Given the description of an element on the screen output the (x, y) to click on. 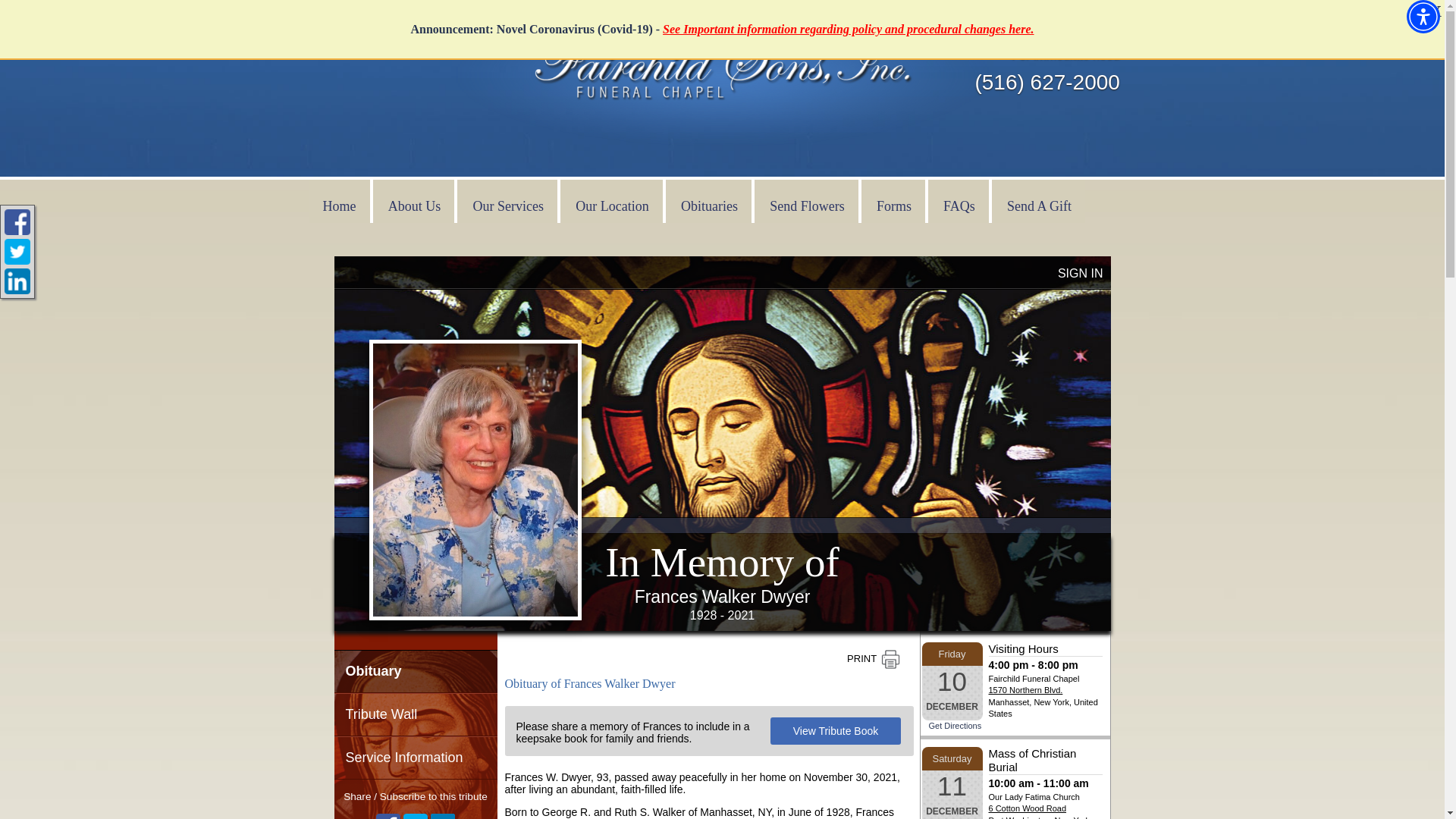
Send Flowers (807, 200)
Obituaries (708, 200)
Send A Gift (1038, 200)
Print (872, 659)
About Us (414, 200)
Accessibility Menu (1422, 16)
Forms (893, 200)
Twitter (415, 816)
Get Directions (954, 725)
Home (338, 200)
SIGN IN (1080, 273)
Obituary (414, 671)
Receive Notifications (442, 816)
Our Services (508, 200)
Tribute Wall (414, 714)
